Given the description of an element on the screen output the (x, y) to click on. 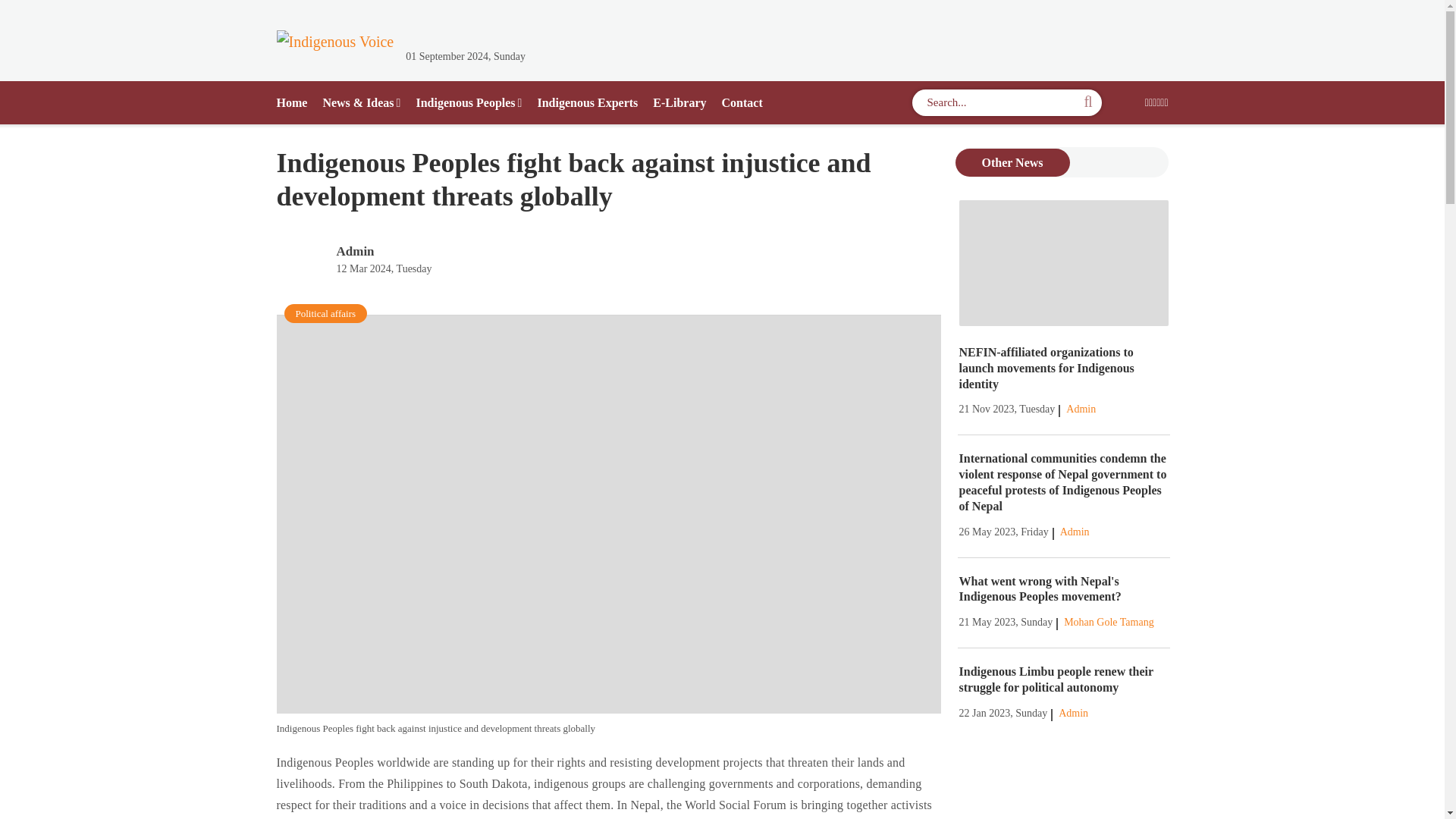
Admin (1074, 531)
Indigenous Experts (587, 102)
Admin (1072, 713)
Admin (1080, 408)
Mohan Gole Tamang (1109, 622)
Indigenous Peoples (467, 102)
What went wrong with Nepal's Indigenous Peoples movement? (1039, 588)
Admin (355, 251)
